Given the description of an element on the screen output the (x, y) to click on. 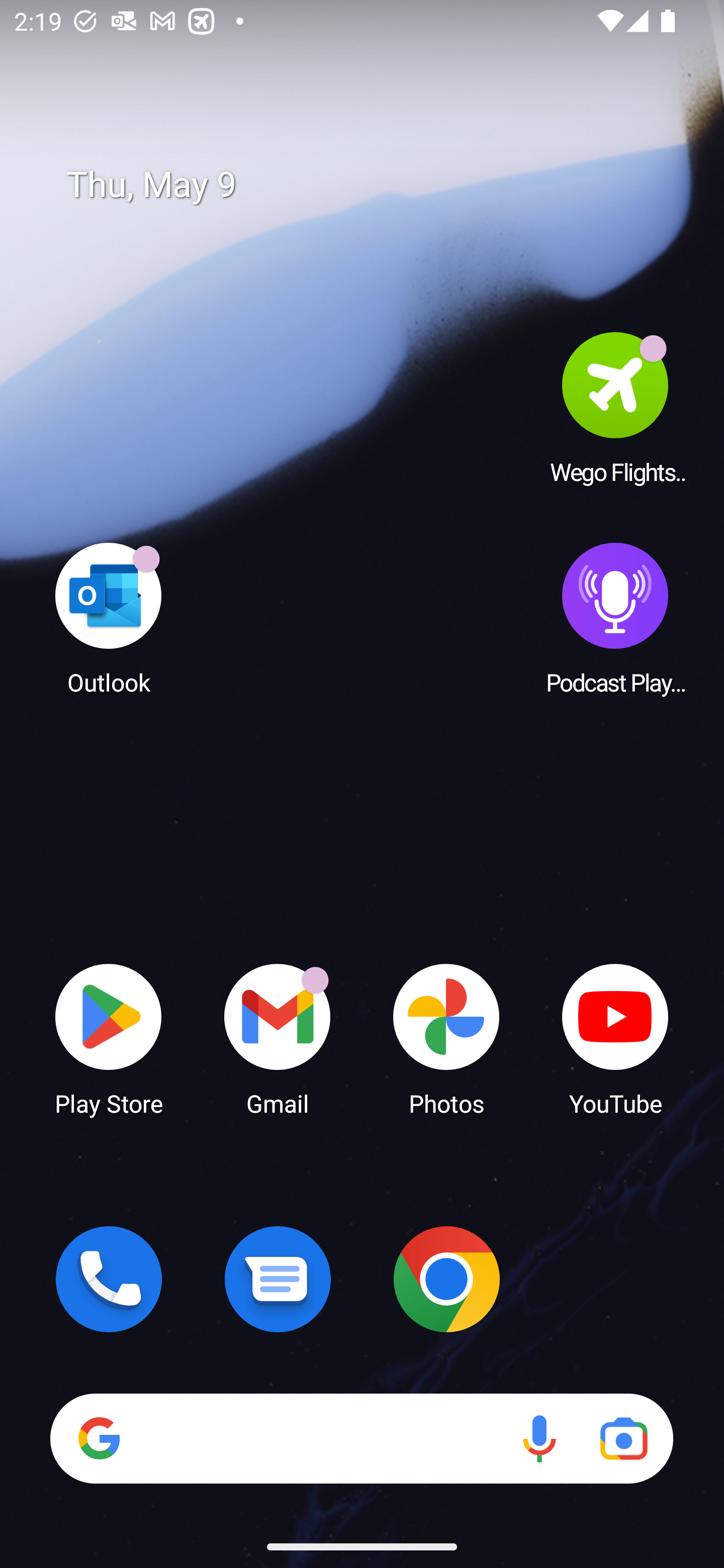
Thu, May 9 (375, 184)
Outlook Outlook has 1 notification (108, 617)
Podcast Player (615, 617)
Play Store (108, 1038)
Gmail Gmail has 18 notifications (277, 1038)
Photos (445, 1038)
YouTube (615, 1038)
Phone (108, 1279)
Messages (277, 1279)
Chrome (446, 1279)
Search Voice search Google Lens (361, 1438)
Voice search (539, 1438)
Google Lens (623, 1438)
